Given the description of an element on the screen output the (x, y) to click on. 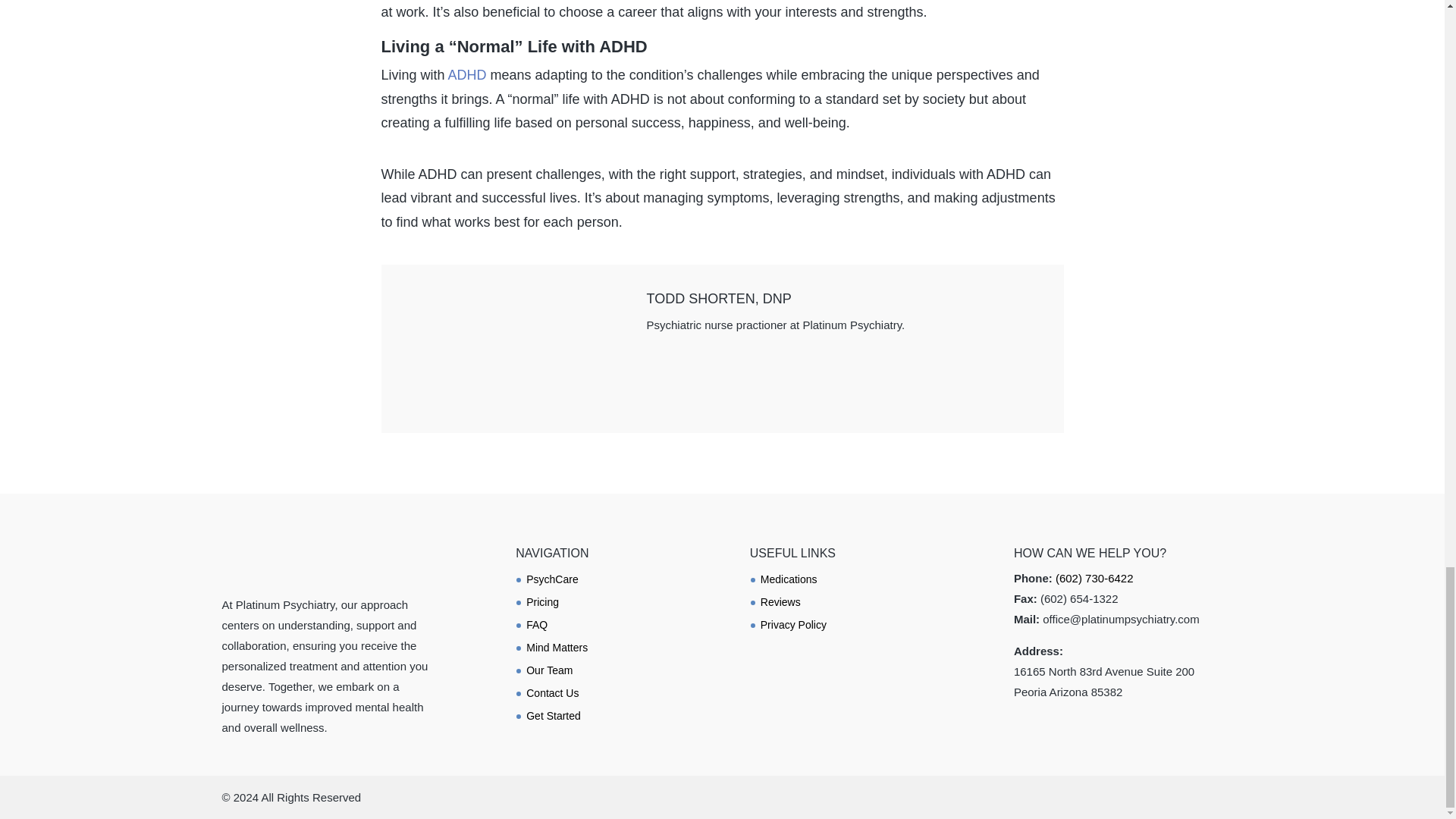
ADHD (467, 74)
platinum-psychiatry (277, 563)
PsychCare (558, 582)
